Given the description of an element on the screen output the (x, y) to click on. 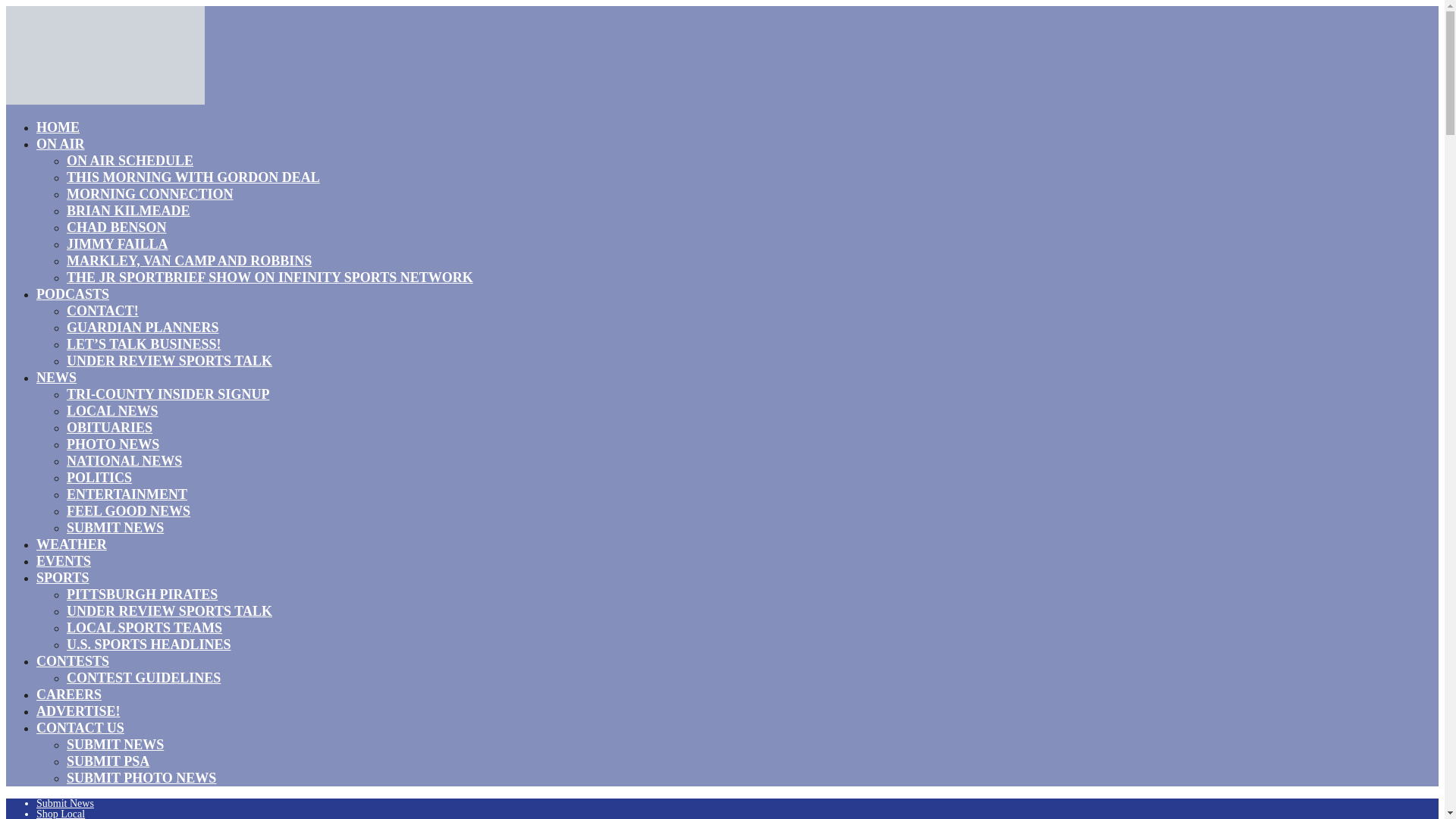
NEWS (56, 377)
OBITUARIES (109, 427)
ADVERTISE! (77, 711)
FEEL GOOD NEWS (128, 510)
TRI-COUNTY INSIDER SIGNUP (167, 394)
CONTACT! (102, 310)
ENTERTAINMENT (126, 494)
JIMMY FAILLA (117, 243)
POLITICS (99, 477)
ON AIR SCHEDULE (129, 160)
